Given the description of an element on the screen output the (x, y) to click on. 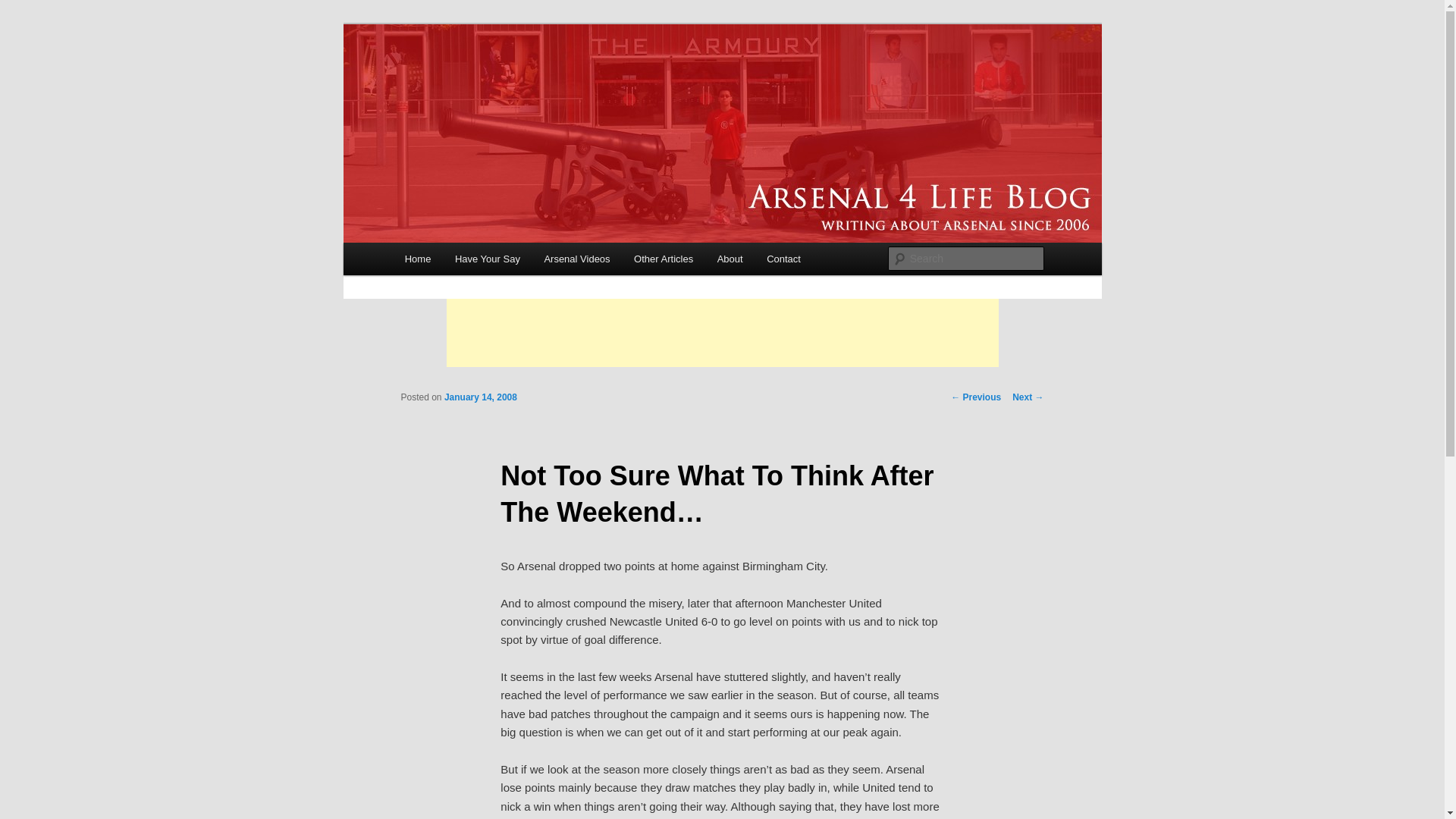
Have Your Say (487, 258)
Search (24, 8)
6:22 pm (480, 397)
January 14, 2008 (480, 397)
Arsenal Videos (577, 258)
Advertisement (721, 332)
Other Articles (662, 258)
Contact (783, 258)
Home (417, 258)
About (729, 258)
